Given the description of an element on the screen output the (x, y) to click on. 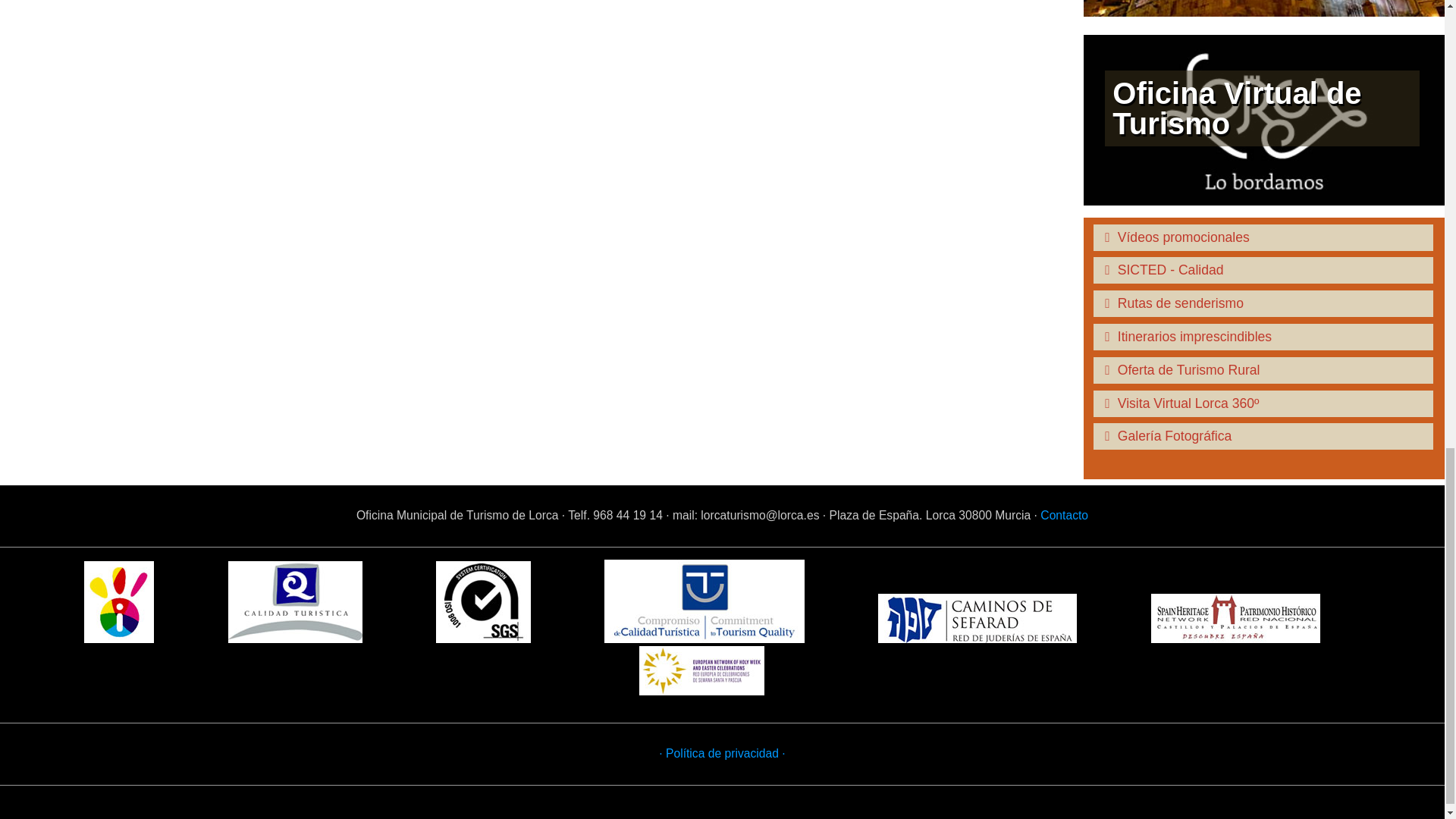
SICTED - Calidad (1264, 270)
Itinerarios imprescindibles (1264, 336)
Rutas de senderismo (1264, 303)
Oferta de Turismo Rural (1264, 370)
Contacto (1064, 514)
